Given the description of an element on the screen output the (x, y) to click on. 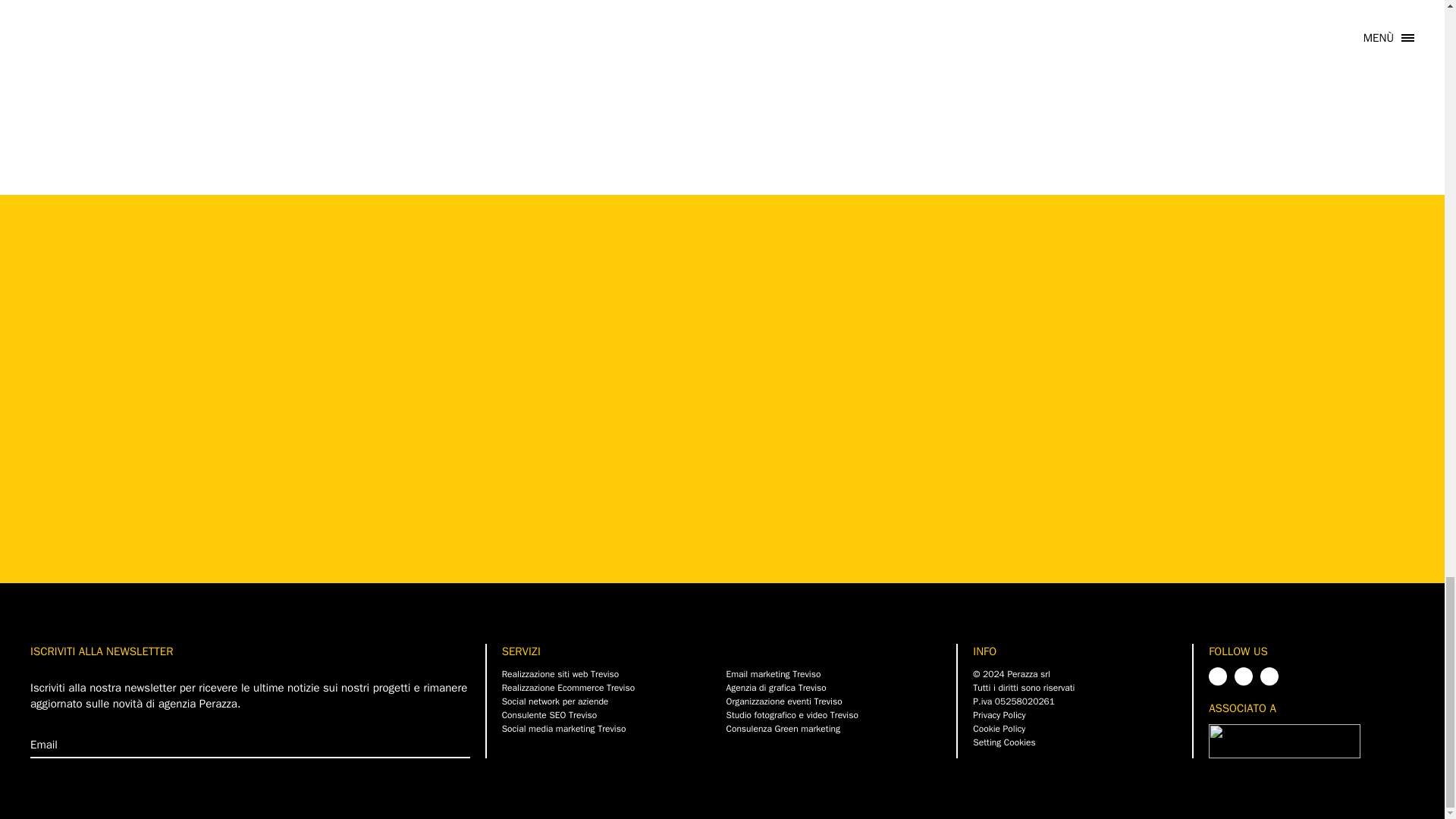
Social network per aziende (609, 701)
Social media marketing Treviso (609, 728)
Consulenza Green marketing (832, 728)
Agenzia di grafica Treviso (832, 687)
Realizzazione Ecommerce Treviso (609, 687)
Consulente SEO Treviso (609, 714)
Realizzazione siti web Treviso (609, 673)
Email marketing Treviso (832, 673)
Setting Cookies (1003, 742)
Cookie Policy (998, 728)
Privacy Policy (998, 715)
Studio fotografico e video Treviso (832, 714)
Organizzazione eventi Treviso (832, 701)
